Given the description of an element on the screen output the (x, y) to click on. 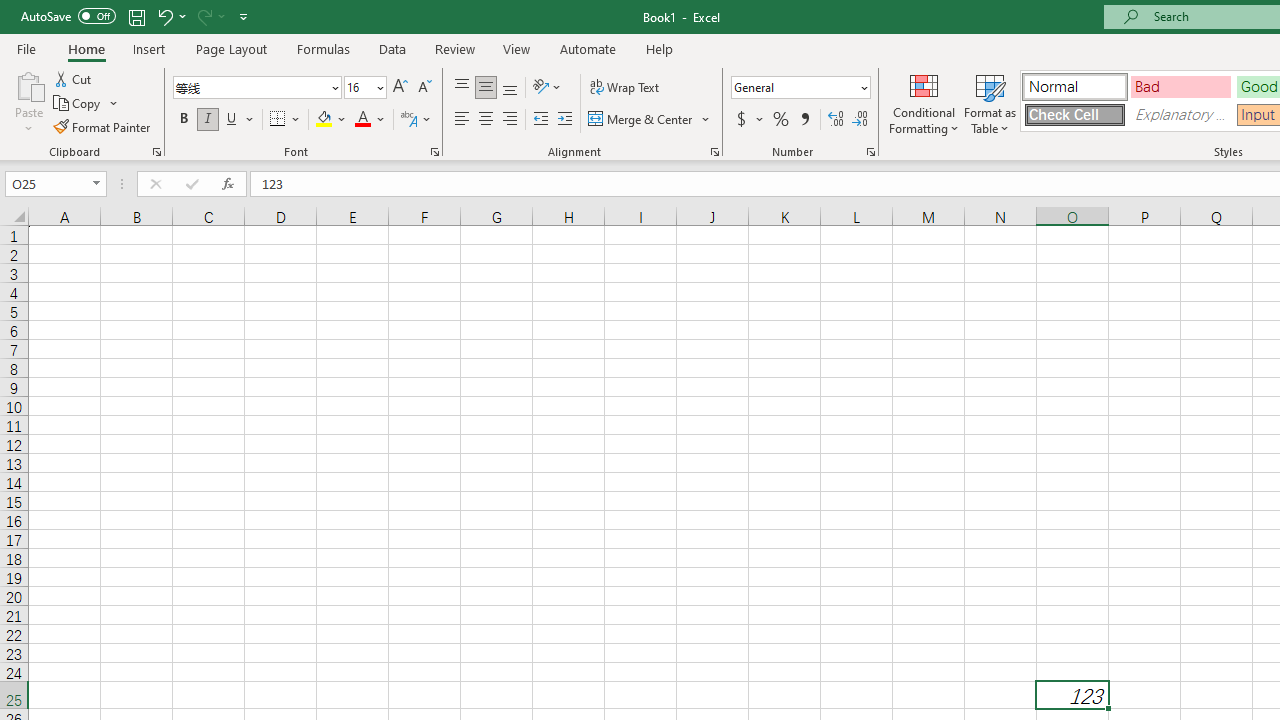
Fill Color (331, 119)
Increase Indent (565, 119)
Check Cell (1074, 114)
Wrap Text (624, 87)
Fill Color RGB(255, 255, 0) (324, 119)
Font (256, 87)
Office Clipboard... (156, 151)
Conditional Formatting (924, 102)
Font Size (365, 87)
